Given the description of an element on the screen output the (x, y) to click on. 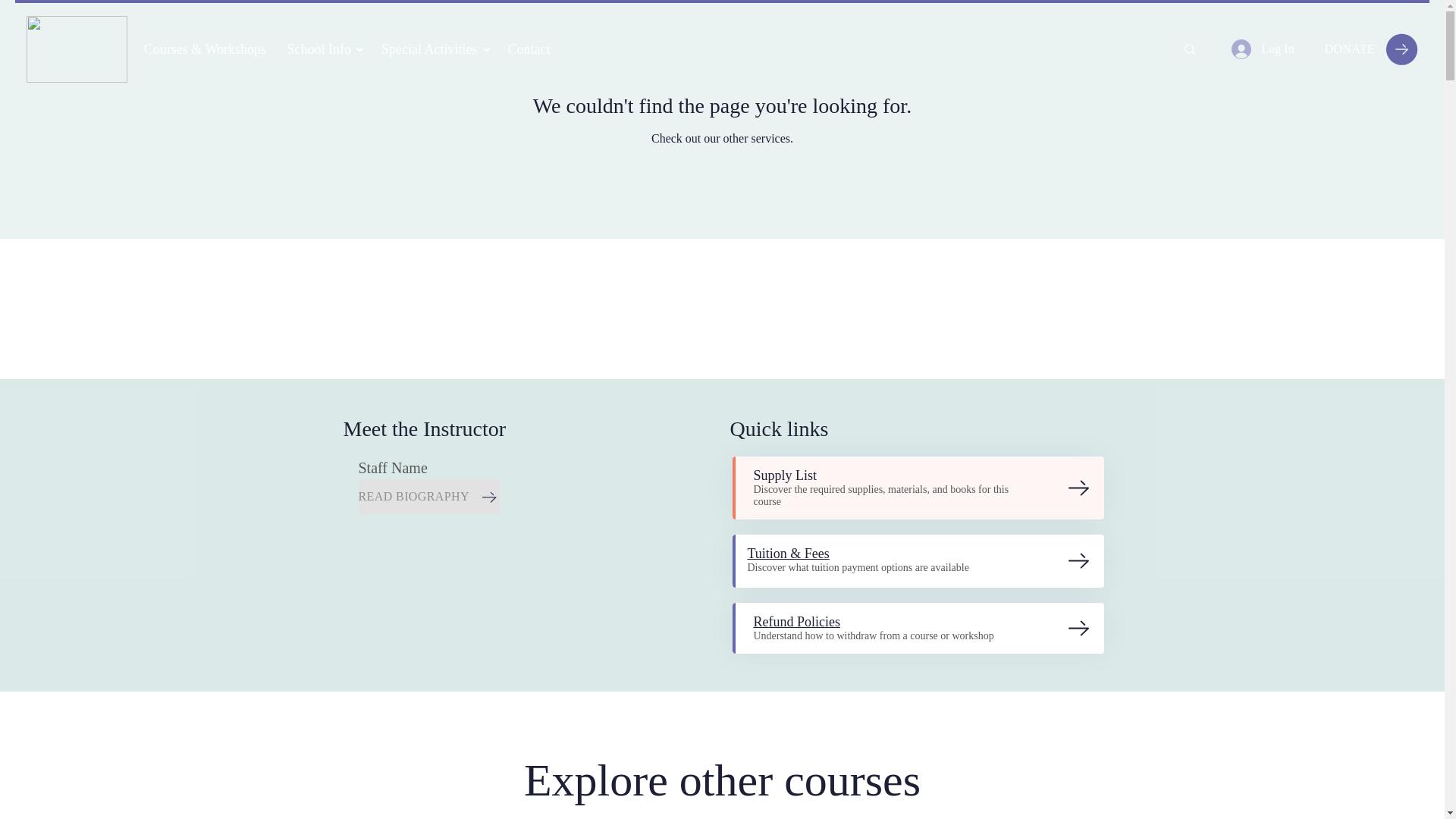
DONATE (1371, 48)
Special Activities (434, 49)
Log In (1262, 49)
Contact (530, 49)
School Info (325, 49)
